Given the description of an element on the screen output the (x, y) to click on. 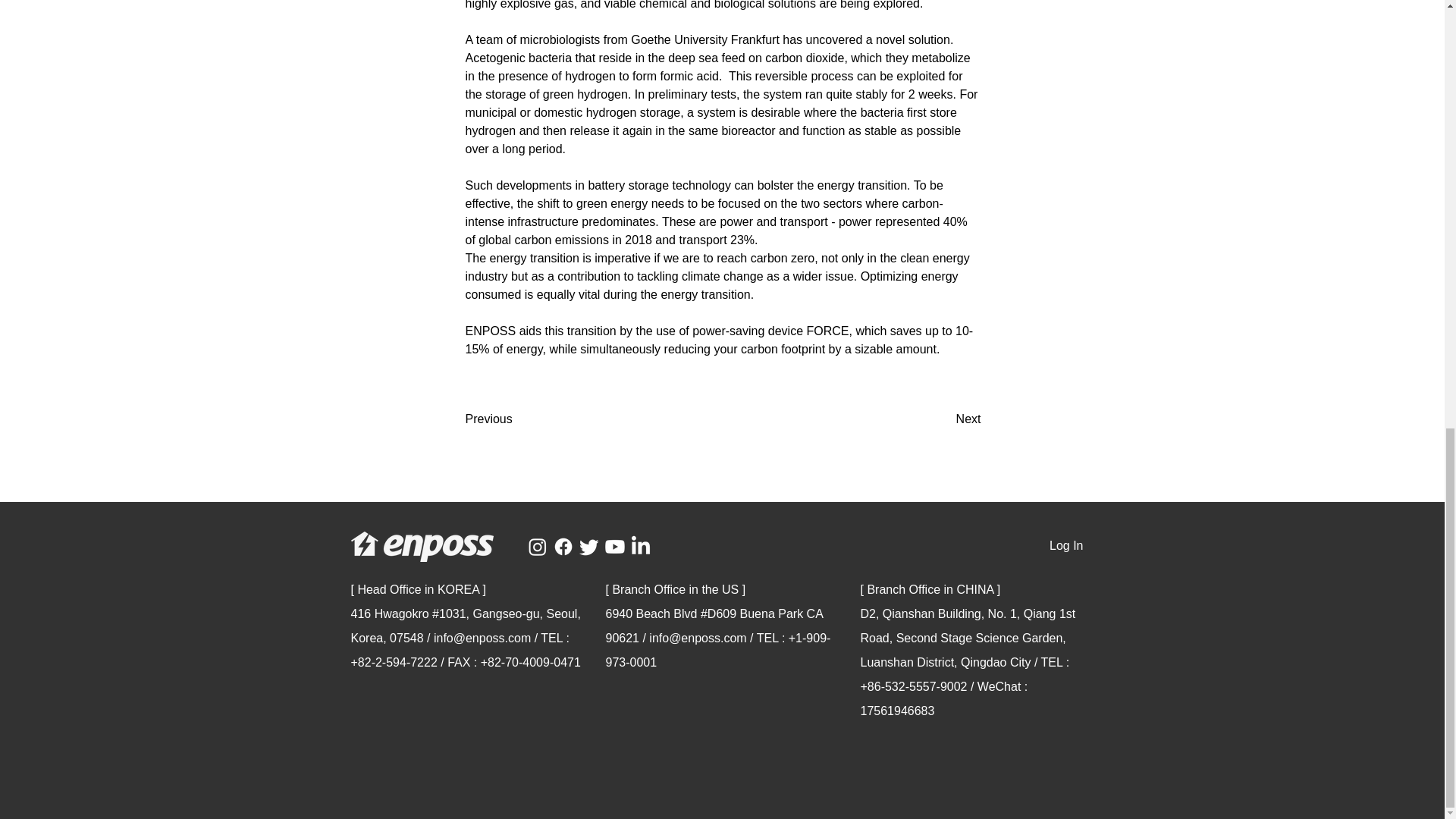
Next (943, 419)
Previous (515, 419)
